Given the description of an element on the screen output the (x, y) to click on. 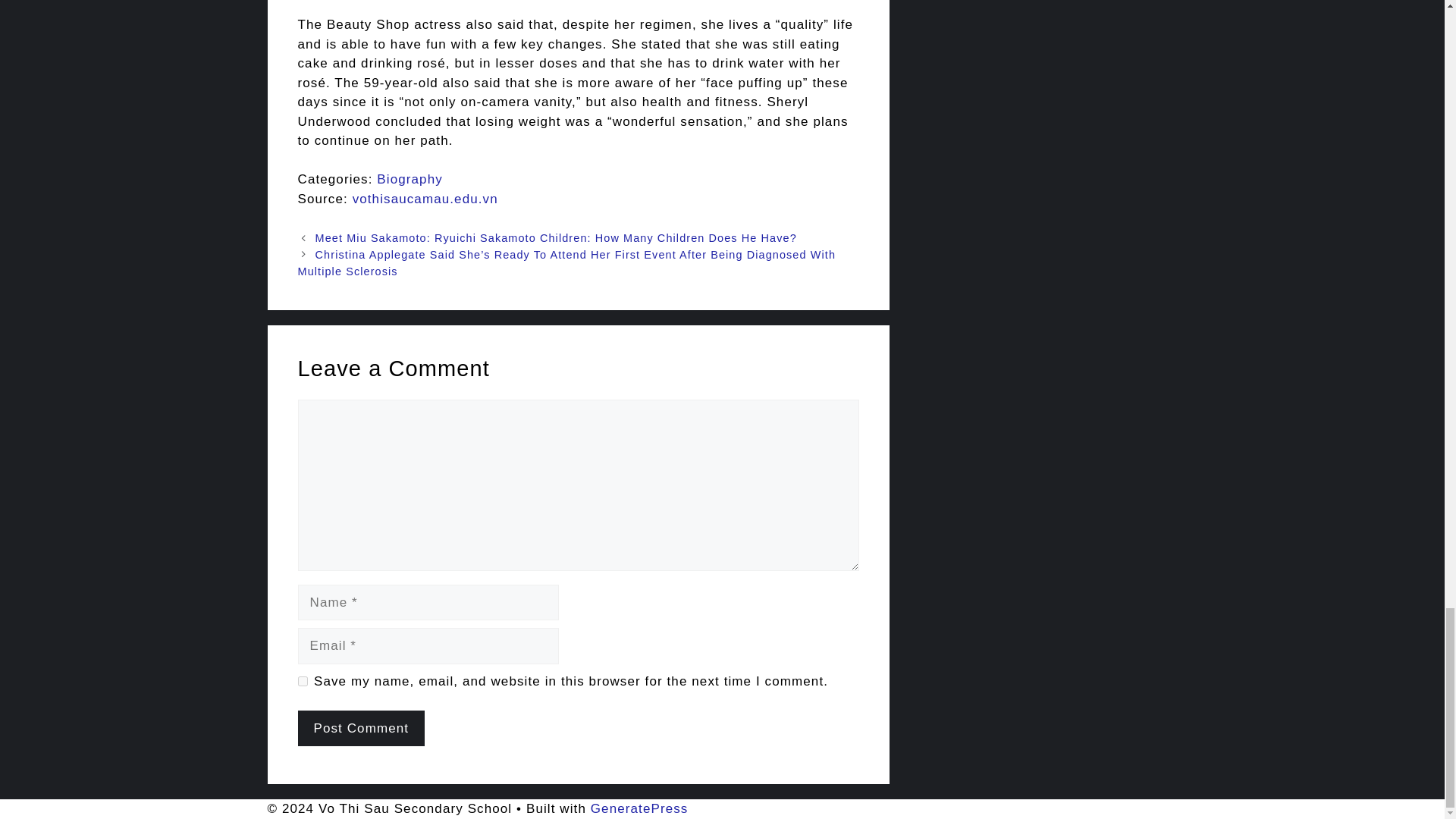
Biography (409, 178)
Post Comment (361, 728)
GeneratePress (639, 808)
yes (302, 681)
Post Comment (361, 728)
vothisaucamau.edu.vn (424, 198)
